Given the description of an element on the screen output the (x, y) to click on. 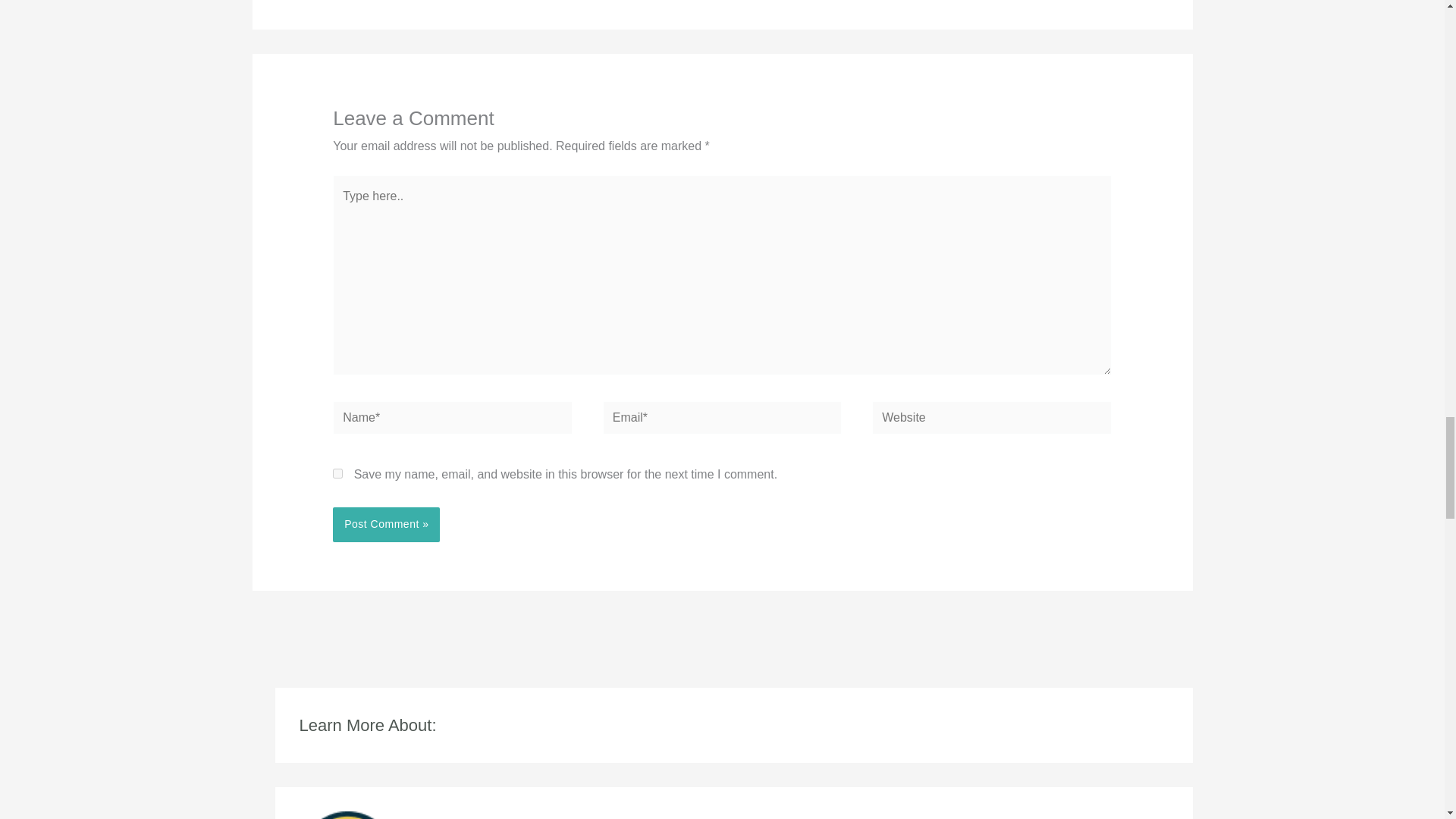
yes (337, 473)
